Given the description of an element on the screen output the (x, y) to click on. 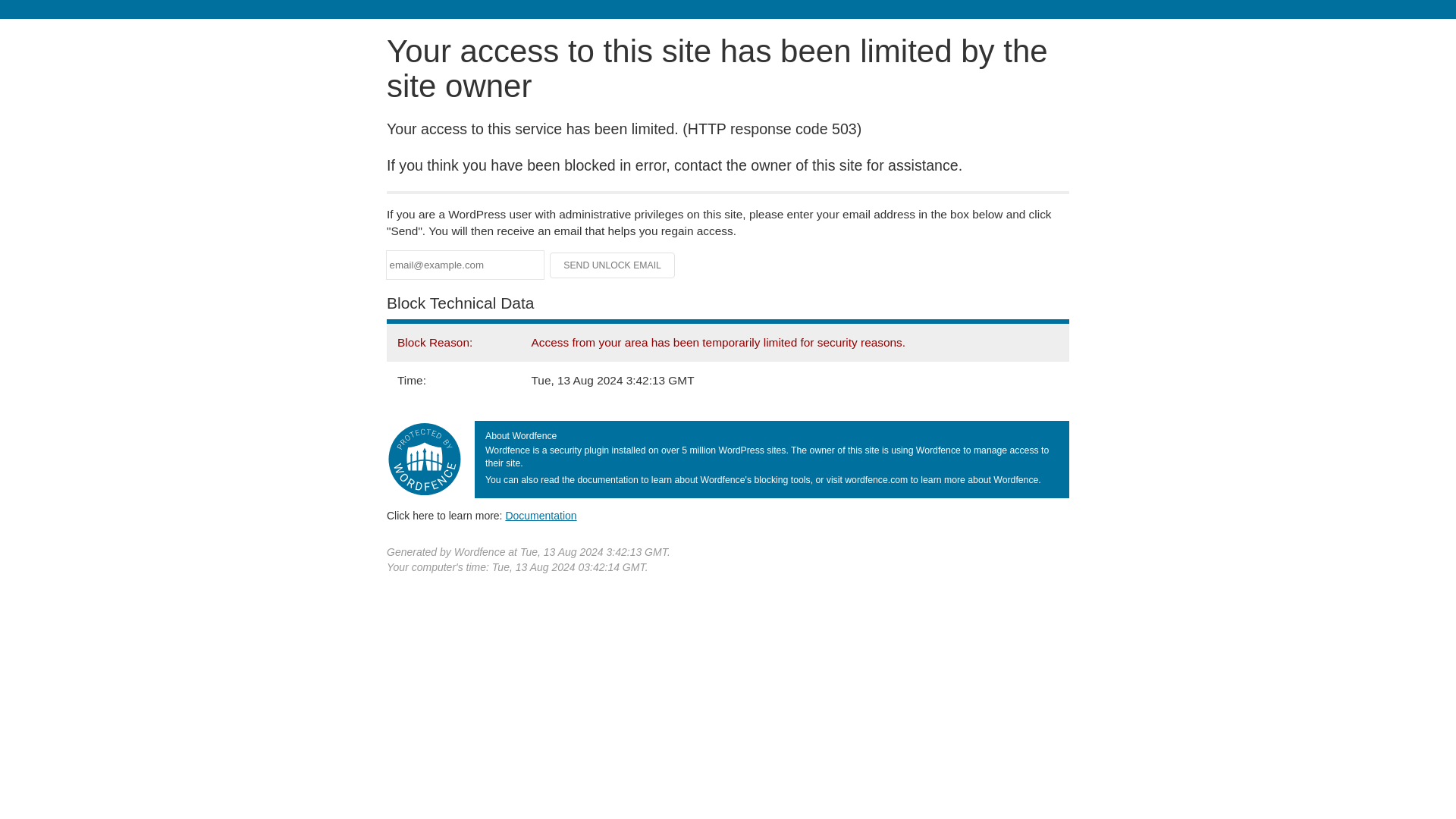
Documentation (540, 515)
Send Unlock Email (612, 265)
Send Unlock Email (612, 265)
